Given the description of an element on the screen output the (x, y) to click on. 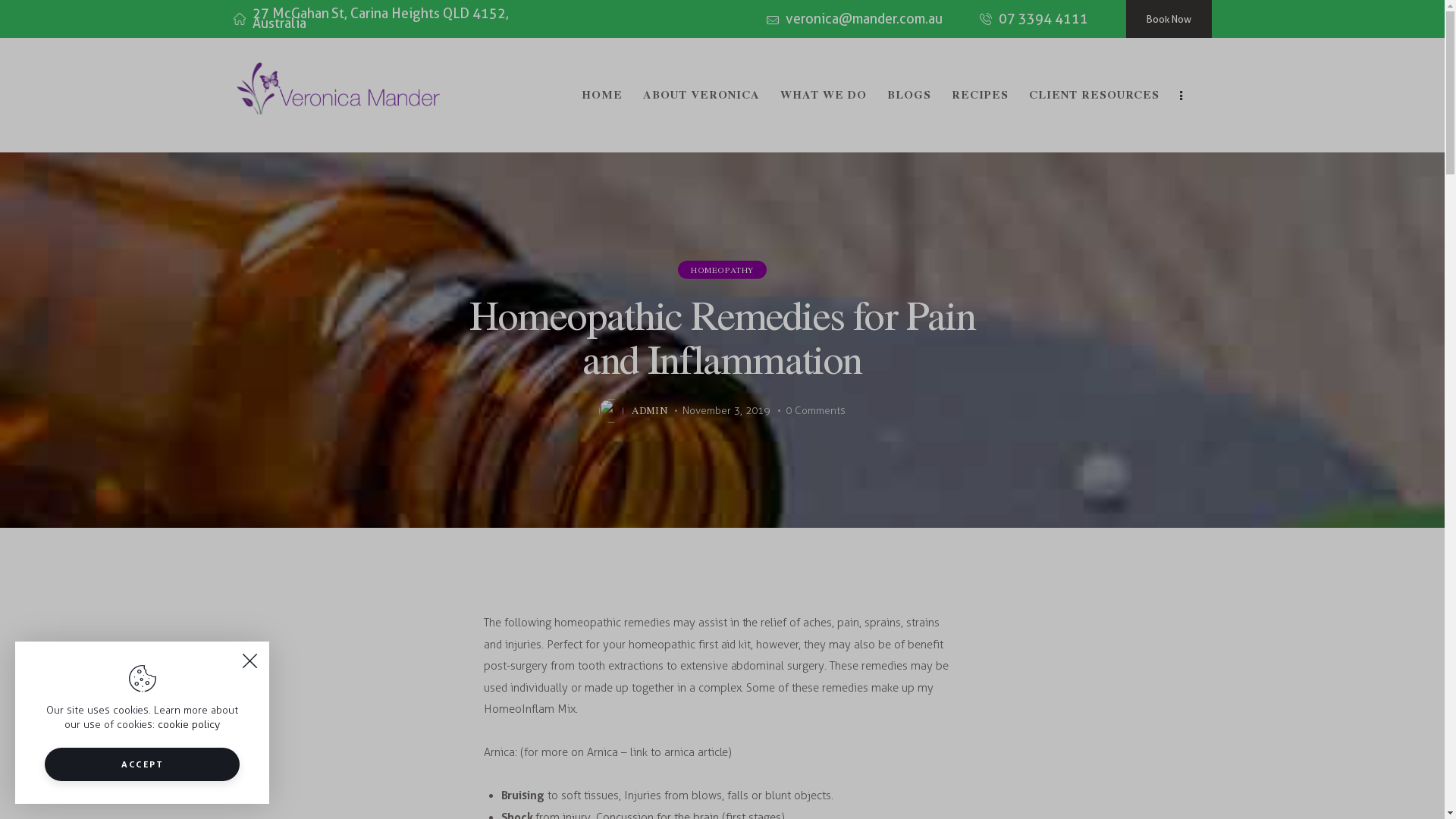
ACCEPT Element type: text (141, 764)
CLIENT RESOURCES Element type: text (1094, 94)
0Comments Element type: text (815, 410)
HOME Element type: text (602, 94)
Book Now Element type: text (1168, 18)
cookie policy Element type: text (188, 724)
07 3394 4111 Element type: text (1033, 18)
ADMIN Element type: text (640, 410)
BLOGS Element type: text (908, 94)
veronica@mander.com.au Element type: text (854, 18)
RECIPES Element type: text (980, 94)
HOMEOPATHY Element type: text (721, 269)
ABOUT VERONICA Element type: text (700, 94)
WHAT WE DO Element type: text (823, 94)
